Given the description of an element on the screen output the (x, y) to click on. 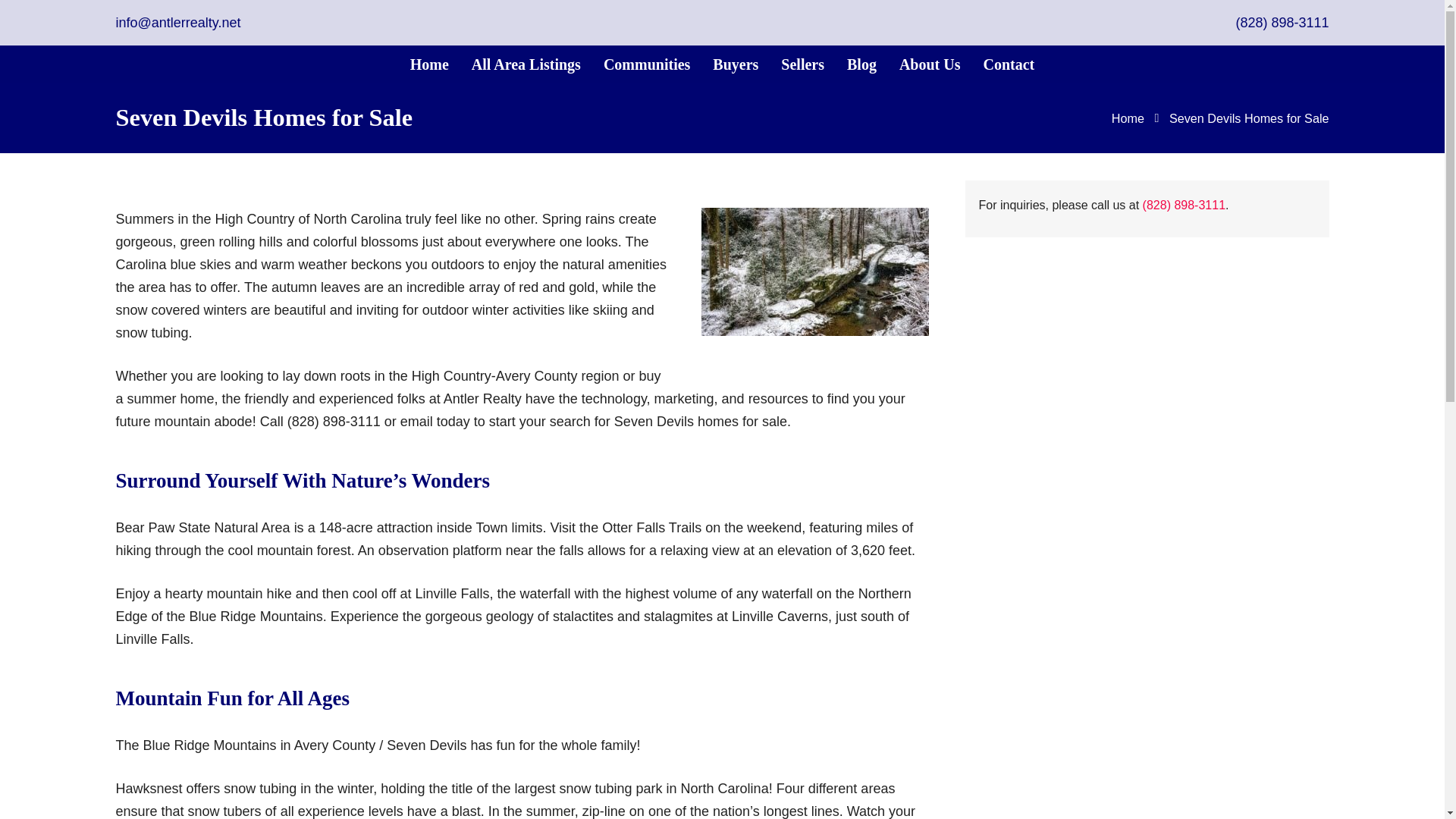
All Area Listings (526, 64)
Home (429, 64)
Communities (646, 64)
This external link will open in a new window (1183, 205)
